Given the description of an element on the screen output the (x, y) to click on. 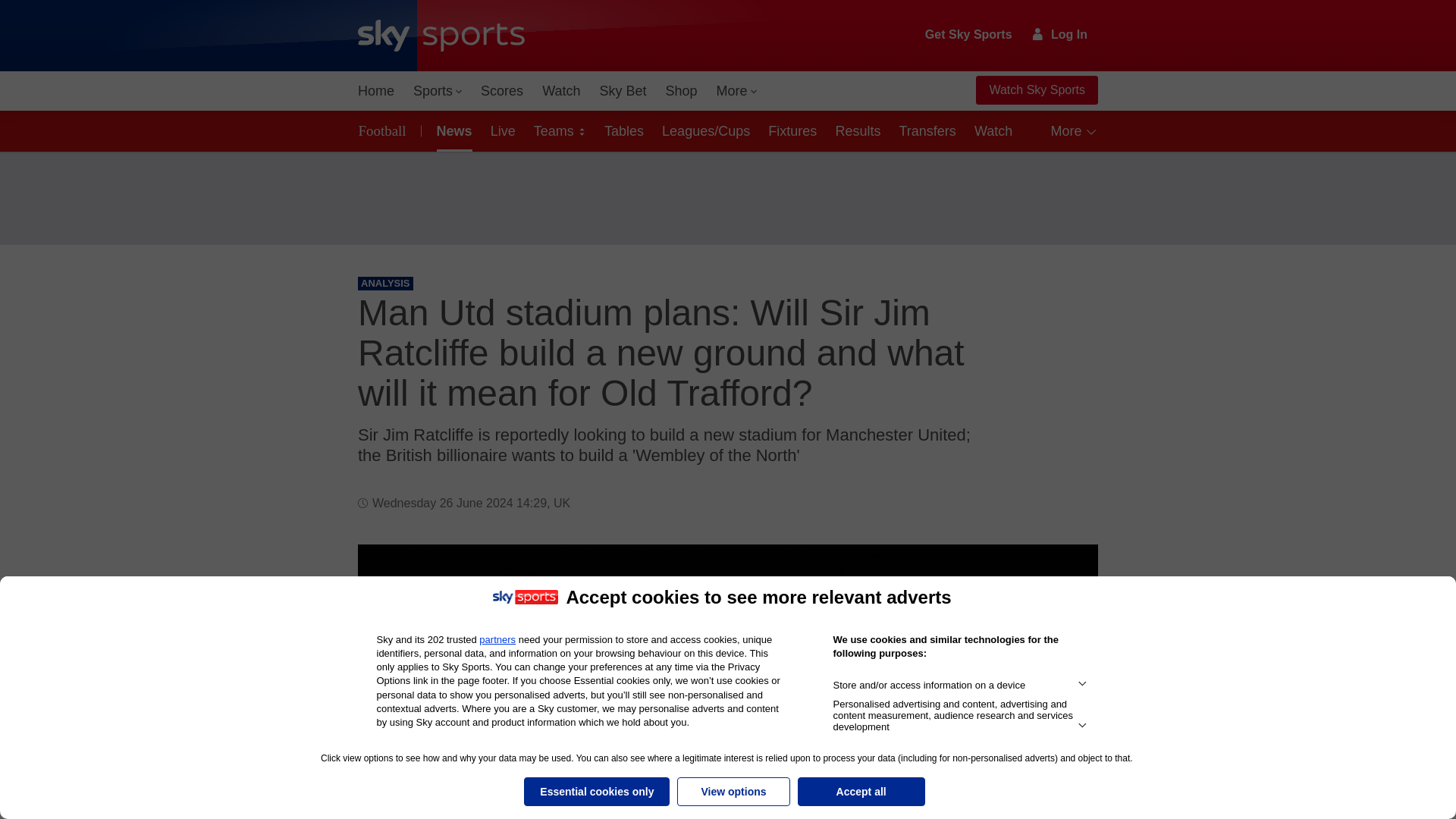
More (736, 91)
Home (375, 91)
Shop (681, 91)
Watch (561, 91)
Log In (1060, 33)
Scores (502, 91)
Get Sky Sports (968, 34)
Football (385, 130)
Watch Sky Sports (1036, 90)
Share (1067, 574)
Sky Bet (622, 91)
News (451, 130)
Sports (437, 91)
